Given the description of an element on the screen output the (x, y) to click on. 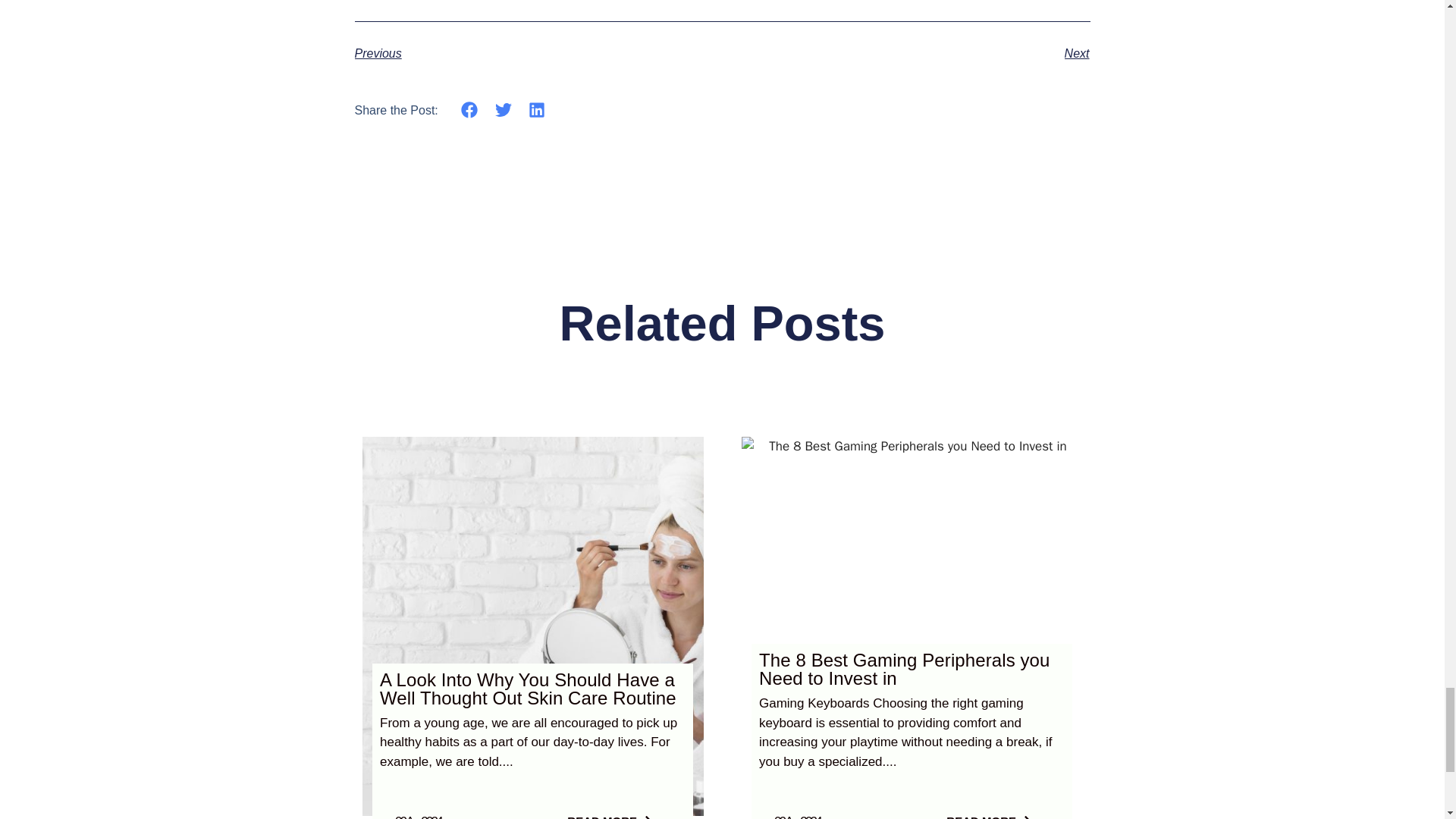
Previous (538, 54)
Next (905, 54)
READ MORE (988, 812)
READ MORE (608, 812)
09 Apr 2024 (417, 815)
The 8 Best Gaming Peripherals you Need to Invest in (903, 669)
09 Apr 2024 (797, 815)
